Given the description of an element on the screen output the (x, y) to click on. 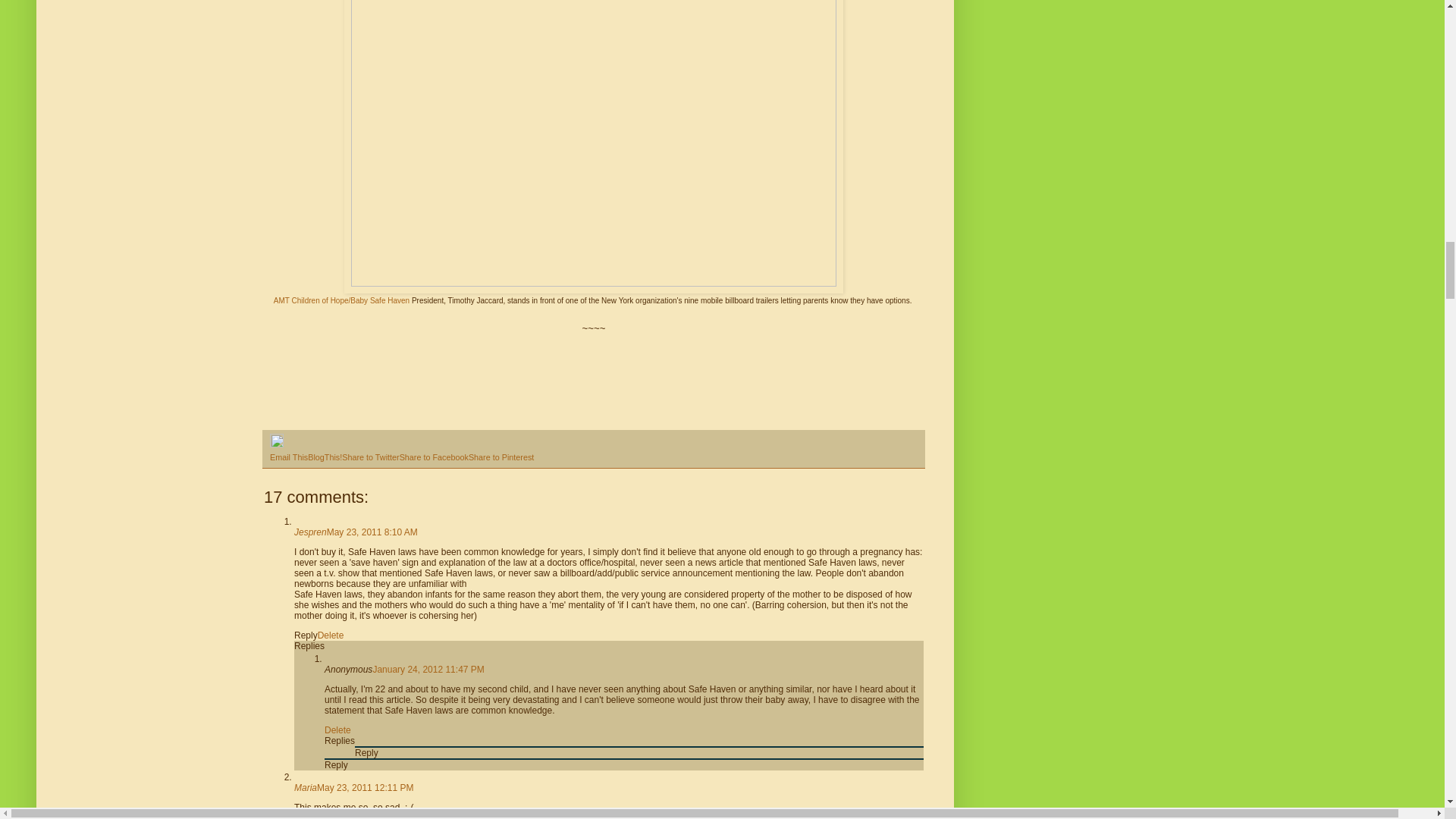
Share to Twitter (370, 456)
Share to Facebook (433, 456)
Email This (288, 456)
Share to Pinterest (501, 456)
Share to Twitter (370, 456)
Email This (288, 456)
BlogThis! (324, 456)
BlogThis! (324, 456)
Edit Post (276, 443)
